Given the description of an element on the screen output the (x, y) to click on. 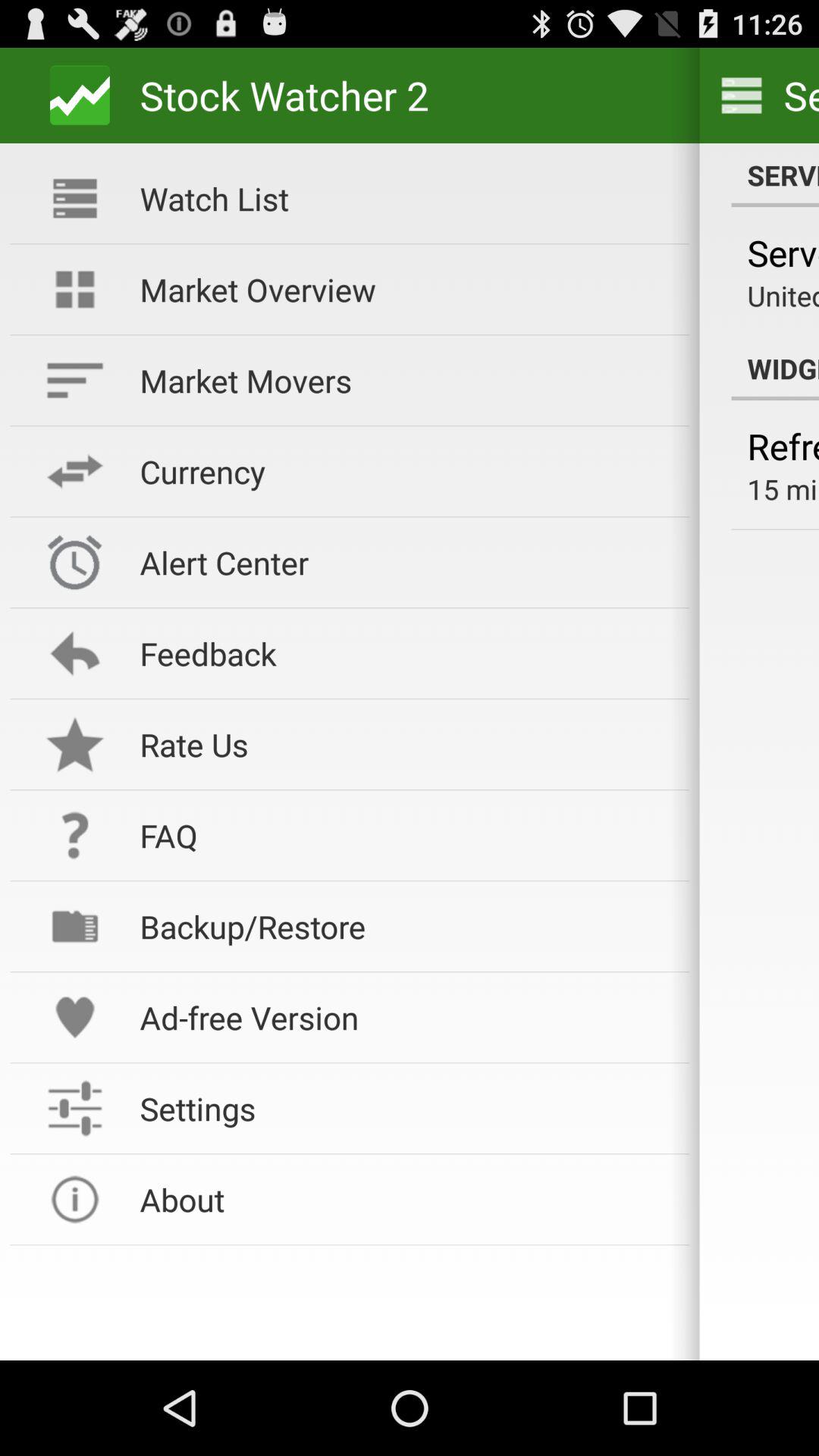
click item next to widgets icon (404, 289)
